Given the description of an element on the screen output the (x, y) to click on. 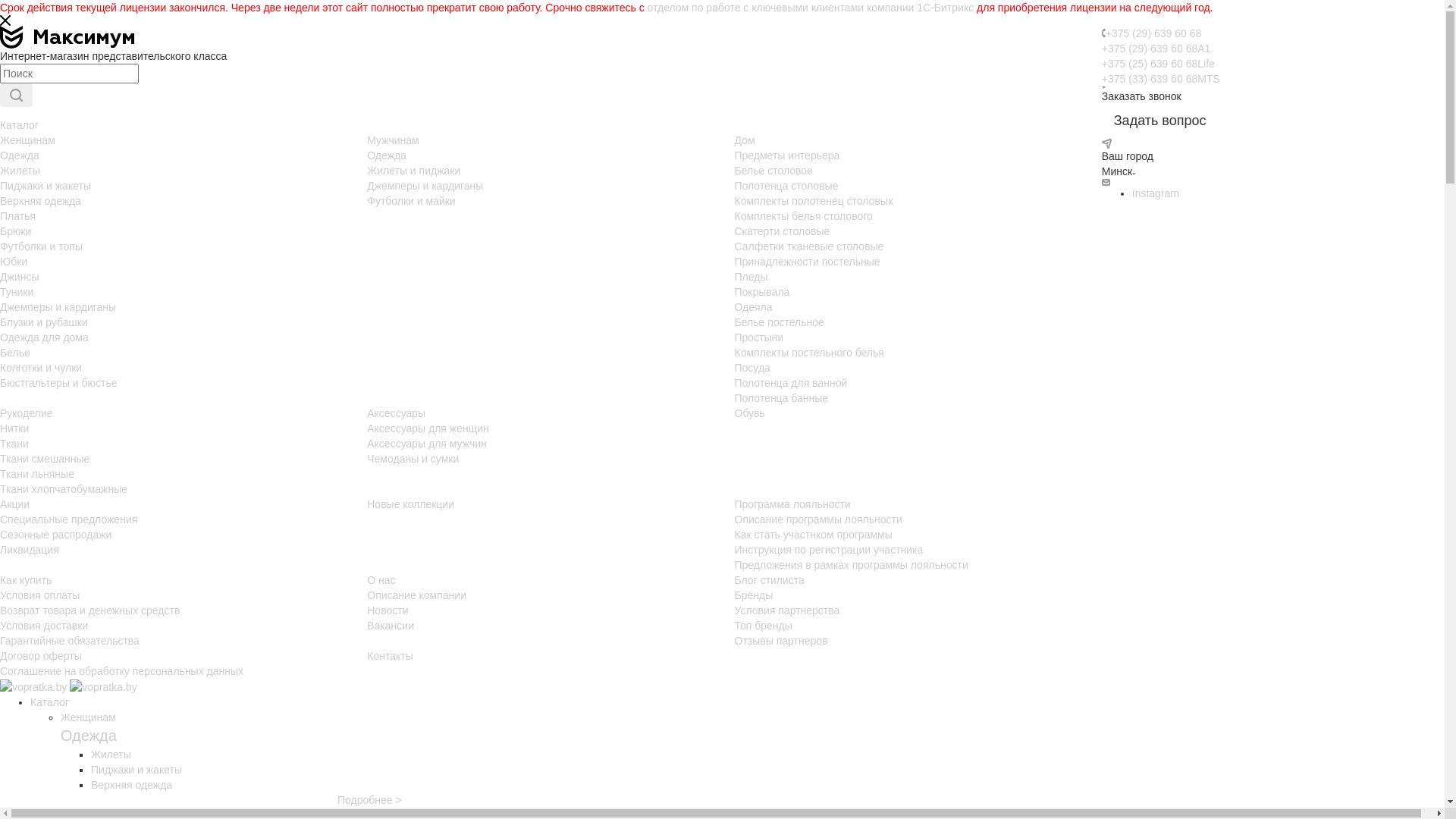
Instagram Element type: text (1155, 193)
+375 (25) 639 60 68Life Element type: text (1157, 63)
+375 (33) 639 60 68MTS Element type: text (1160, 78)
+375 (29) 639 60 68A1 Element type: text (1156, 48)
+375 (29) 639 60 68 Element type: text (1153, 33)
